Given the description of an element on the screen output the (x, y) to click on. 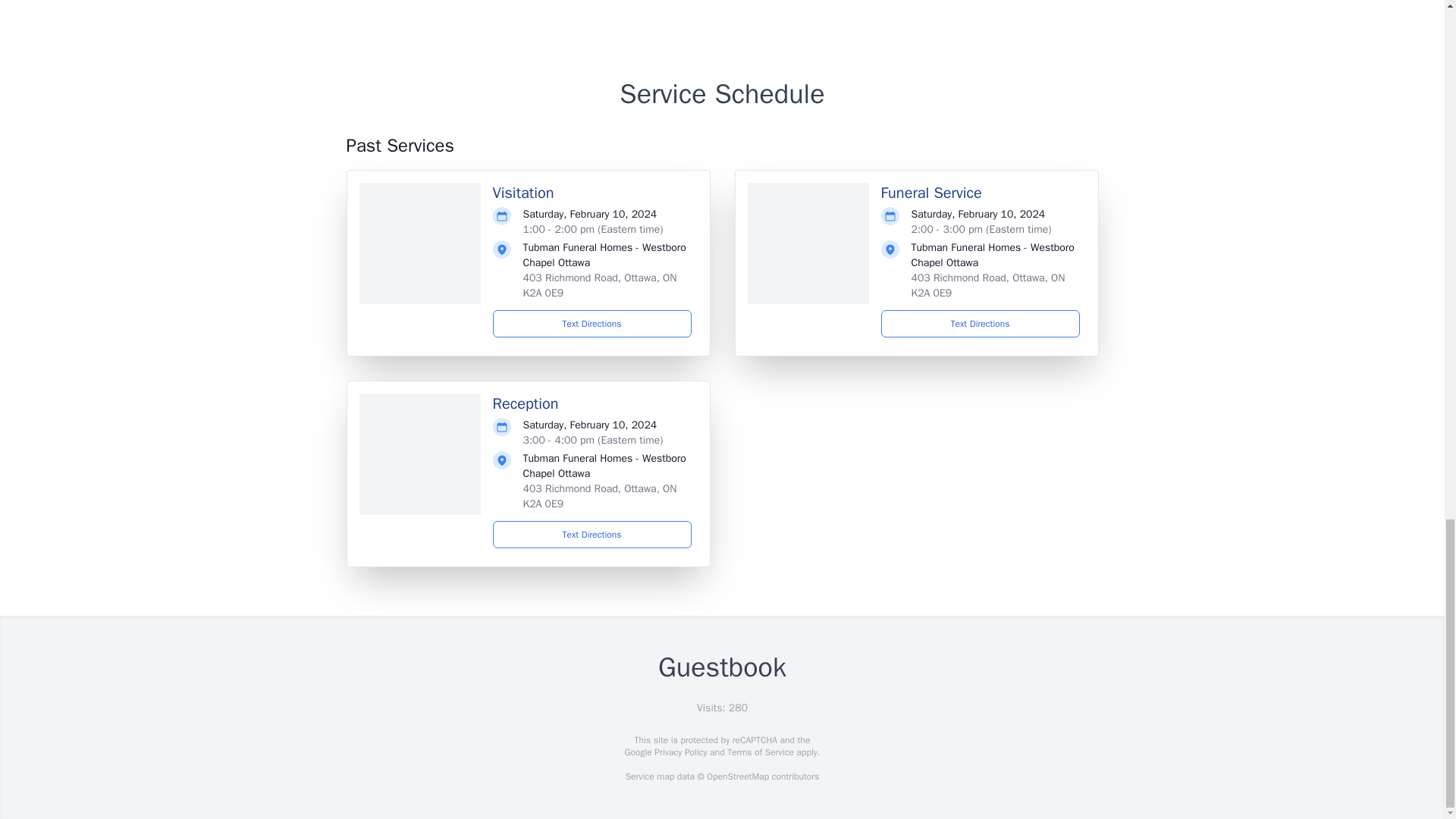
OpenStreetMap (737, 776)
403 Richmond Road, Ottawa, ON K2A 0E9 (599, 285)
Text Directions (980, 323)
403 Richmond Road, Ottawa, ON K2A 0E9 (988, 285)
Text Directions (592, 323)
Text Directions (592, 533)
403 Richmond Road, Ottawa, ON K2A 0E9 (599, 496)
Terms of Service (759, 752)
Privacy Policy (679, 752)
